Given the description of an element on the screen output the (x, y) to click on. 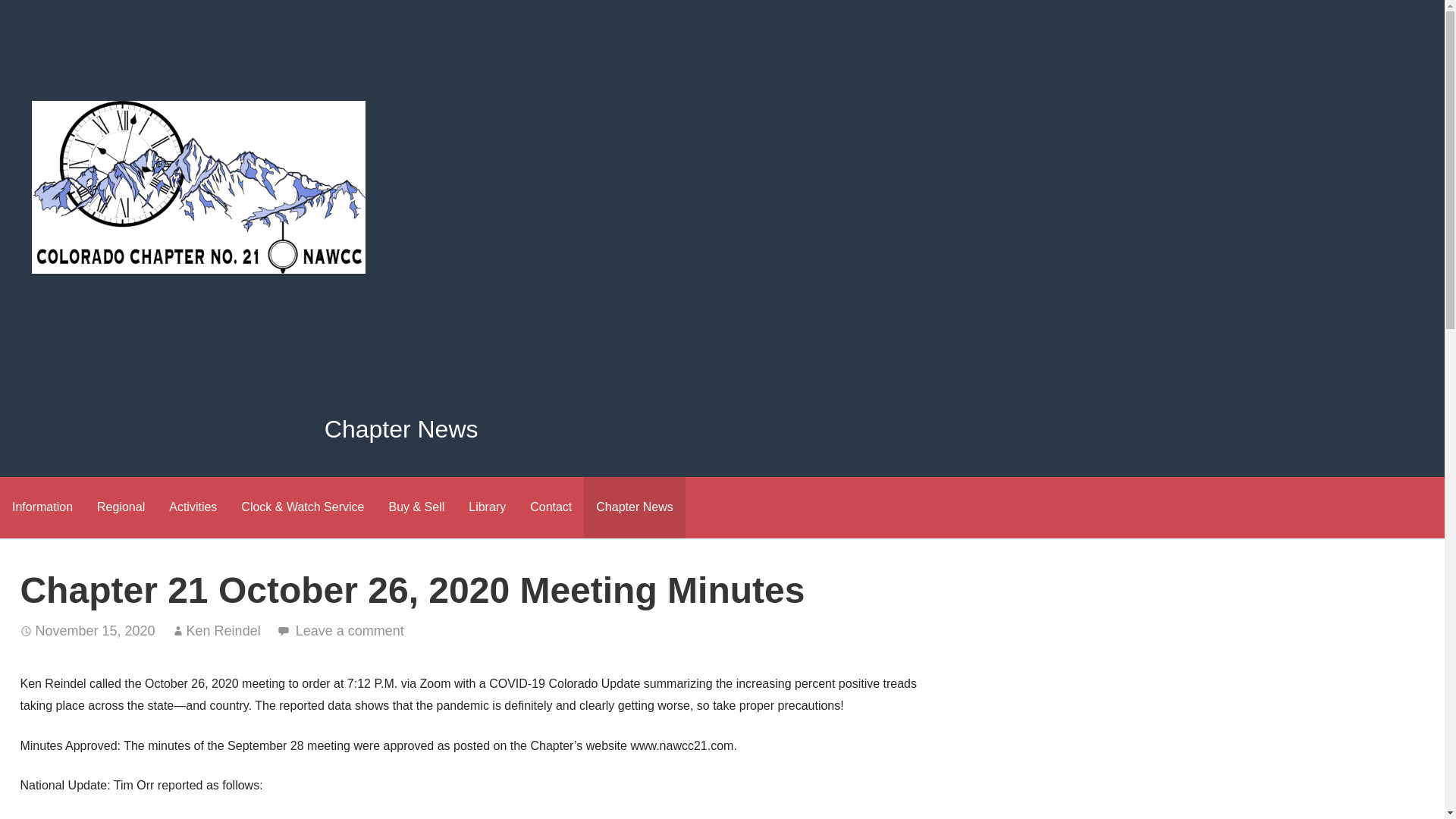
Posts by Ken Reindel (223, 630)
Chapter News (633, 507)
Information (42, 507)
Library (487, 507)
Leave a comment (349, 630)
Regional (120, 507)
Activities (192, 507)
Ken Reindel (223, 630)
Contact (550, 507)
